Given the description of an element on the screen output the (x, y) to click on. 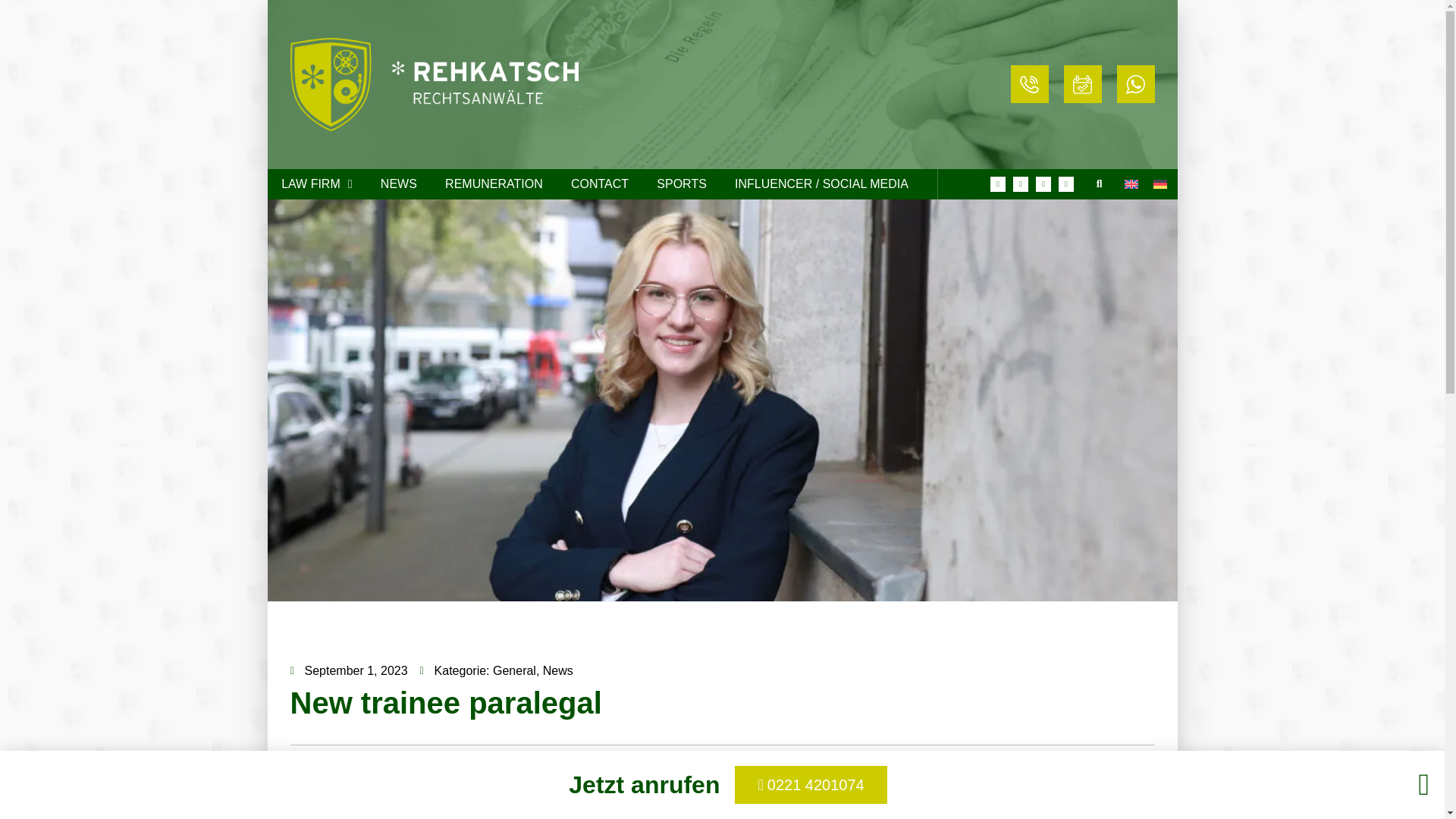
General (514, 670)
CONTACT (599, 183)
LAW FIRM (316, 183)
REMUNERATION (493, 183)
NEWS (398, 183)
September 1, 2023 (348, 670)
SPORTS (681, 183)
